Given the description of an element on the screen output the (x, y) to click on. 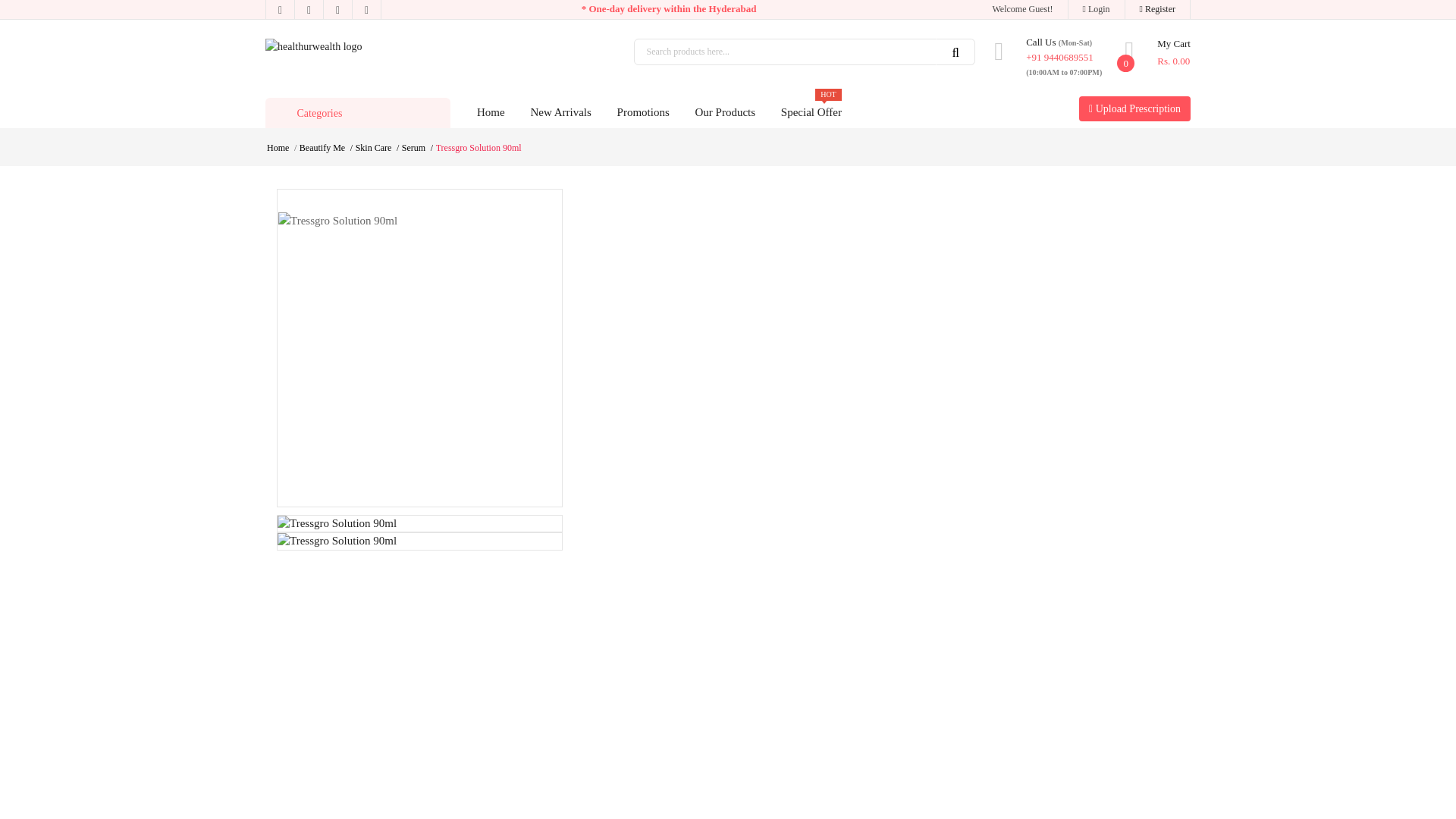
Our Products (725, 111)
Login (1096, 9)
New Arrivals (1157, 52)
Promotions (560, 111)
Register (643, 111)
Upload Prescription (810, 111)
